Given the description of an element on the screen output the (x, y) to click on. 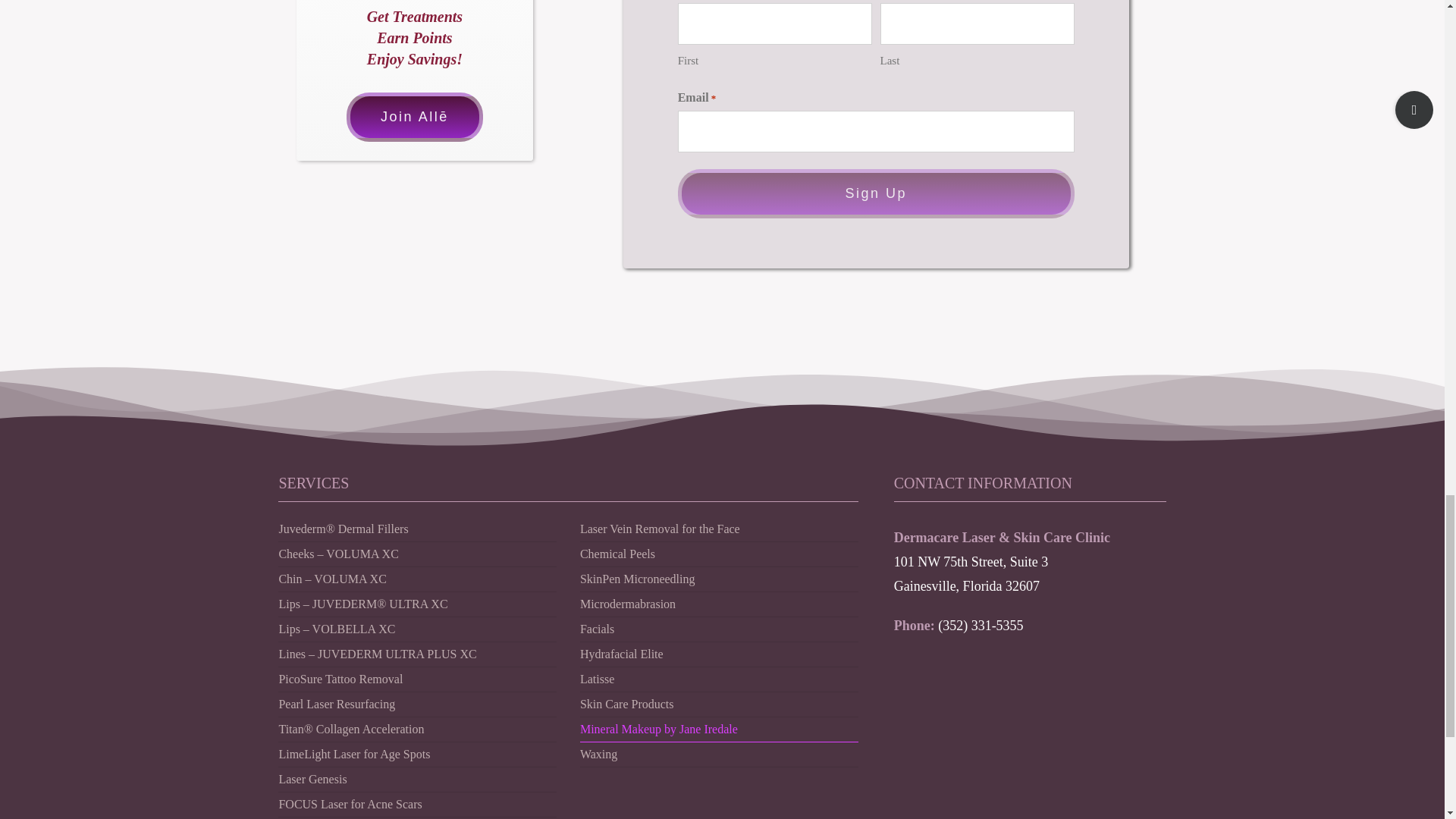
Sign Up (876, 193)
